Given the description of an element on the screen output the (x, y) to click on. 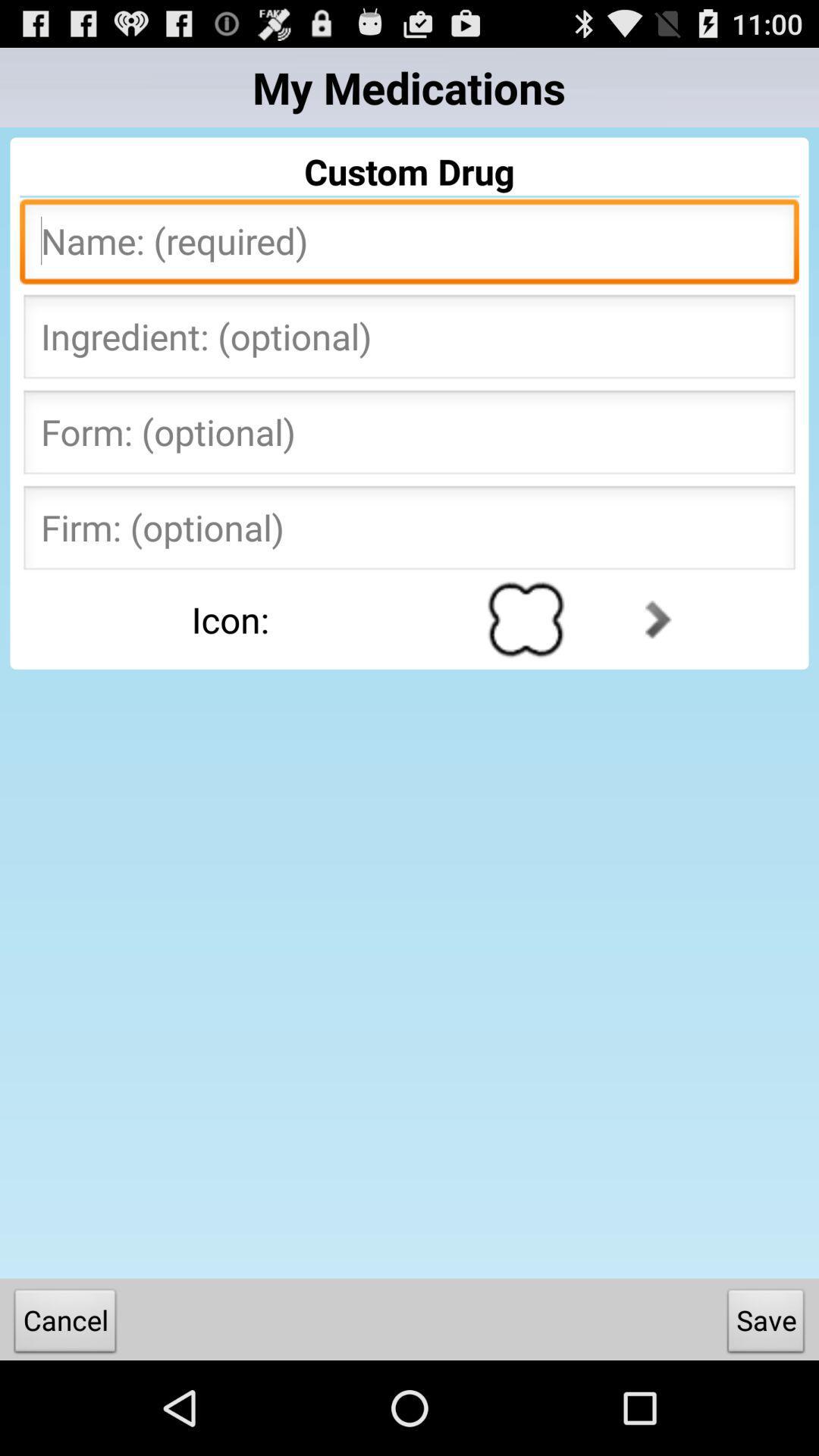
this is an optional form field (409, 436)
